Given the description of an element on the screen output the (x, y) to click on. 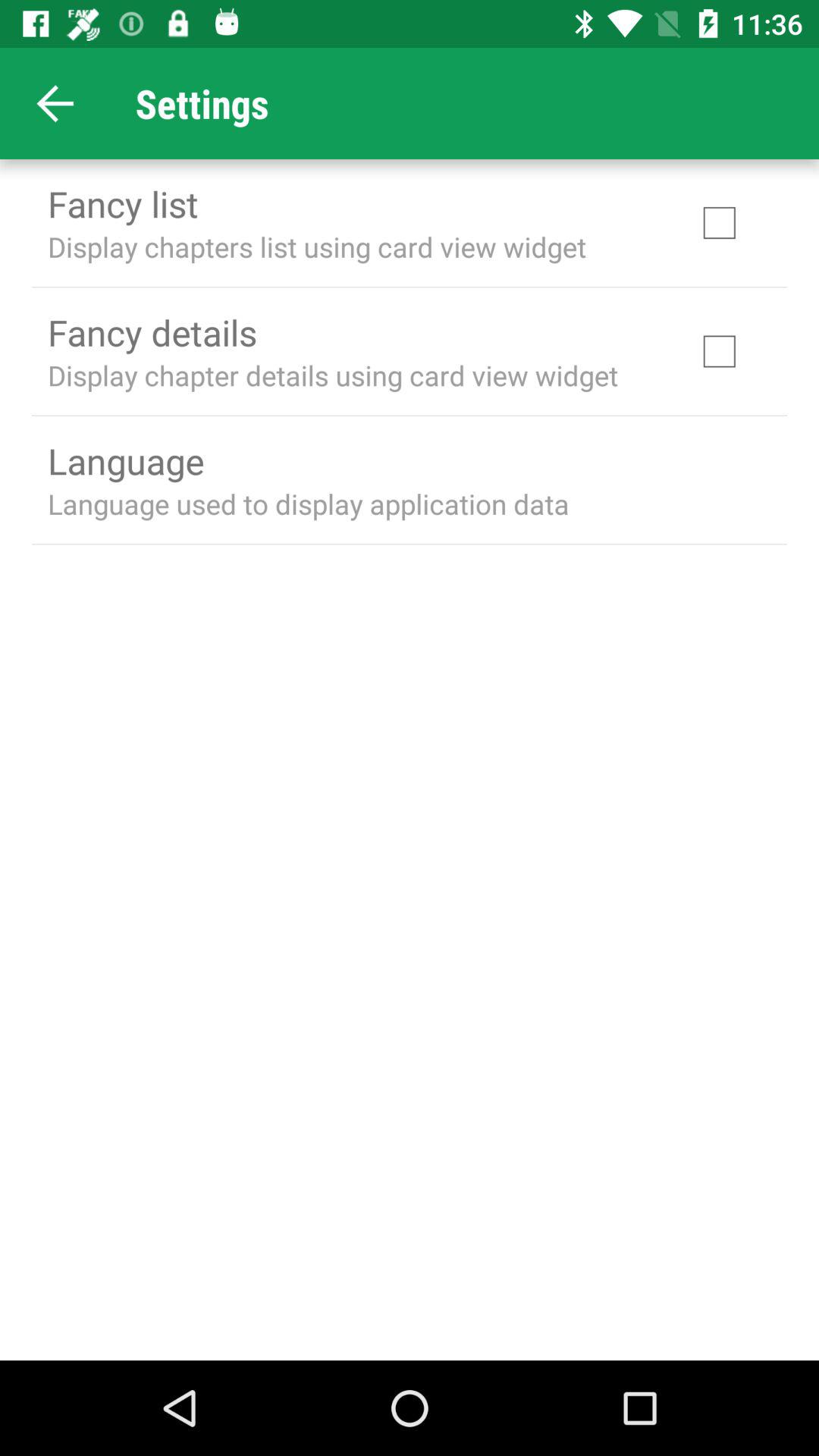
tap language used to item (308, 503)
